Given the description of an element on the screen output the (x, y) to click on. 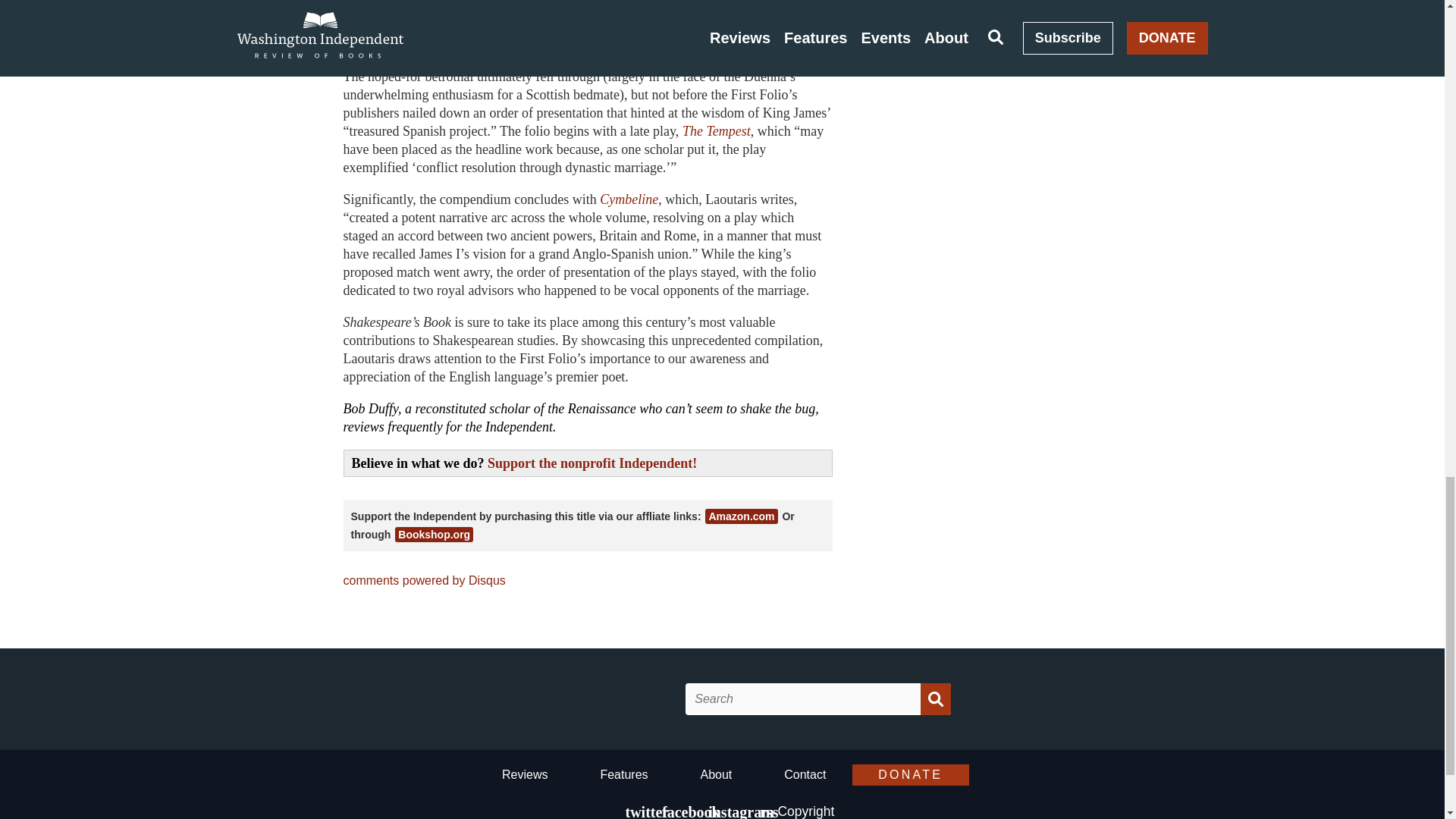
Support the nonprofit Independent! (592, 462)
Amazon.com (740, 516)
The Tempest (716, 130)
Bookshop.org (433, 534)
comments powered by Disqus (423, 580)
Cymbeline (628, 199)
Washington Independent Review of Books (576, 699)
